Given the description of an element on the screen output the (x, y) to click on. 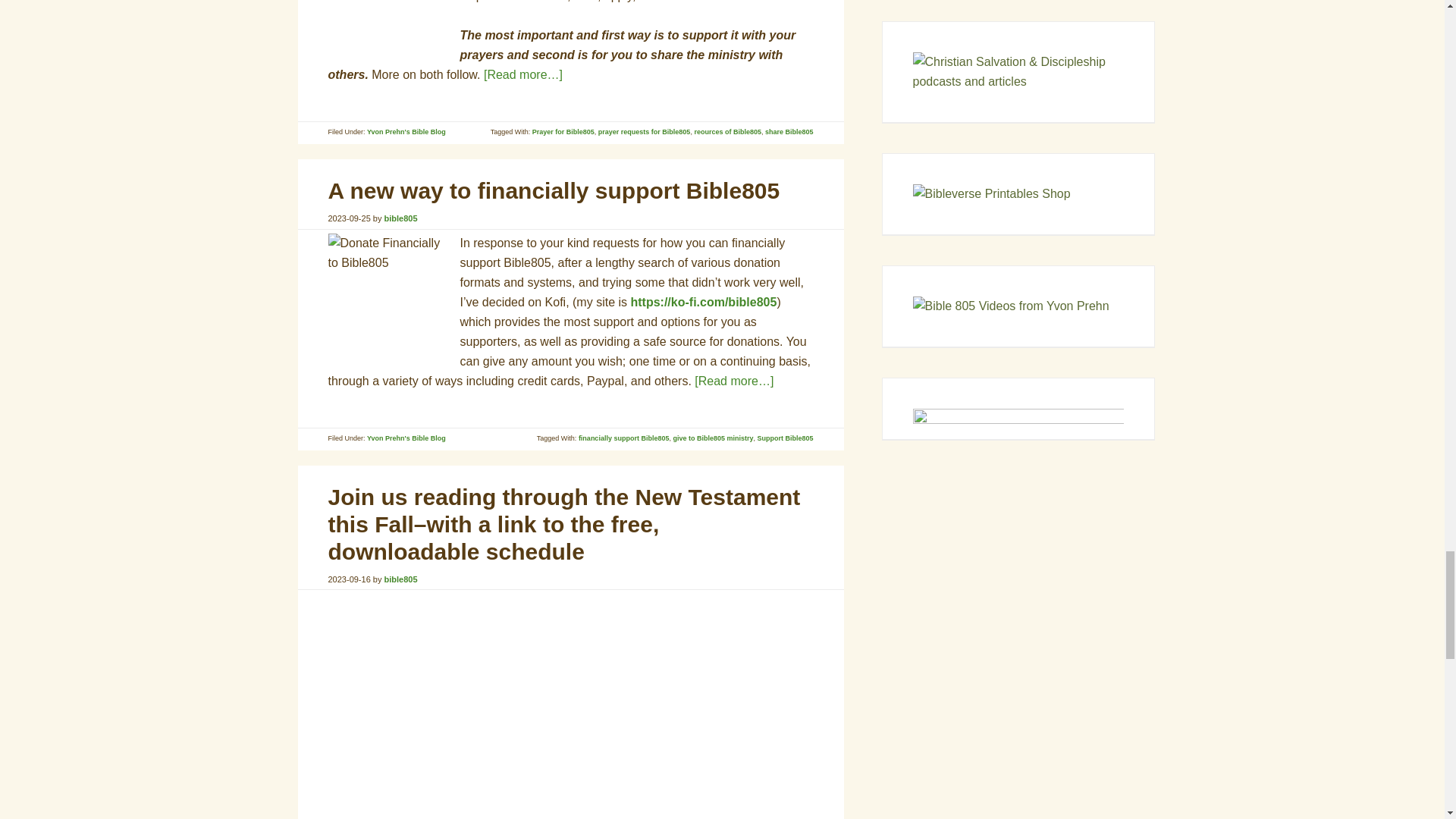
Join us in going through the NEW TESTAMENT! (516, 699)
